Given the description of an element on the screen output the (x, y) to click on. 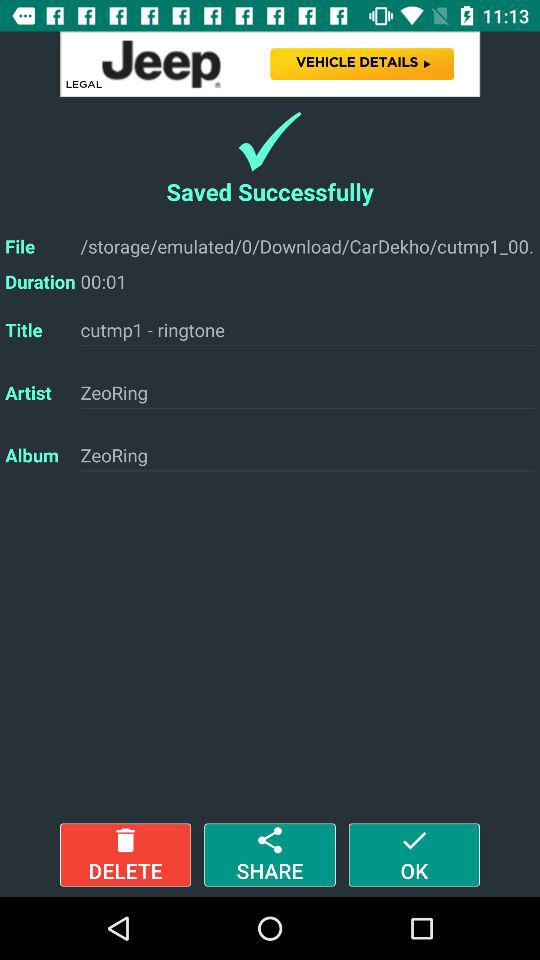
go to advertisements website (270, 64)
